Given the description of an element on the screen output the (x, y) to click on. 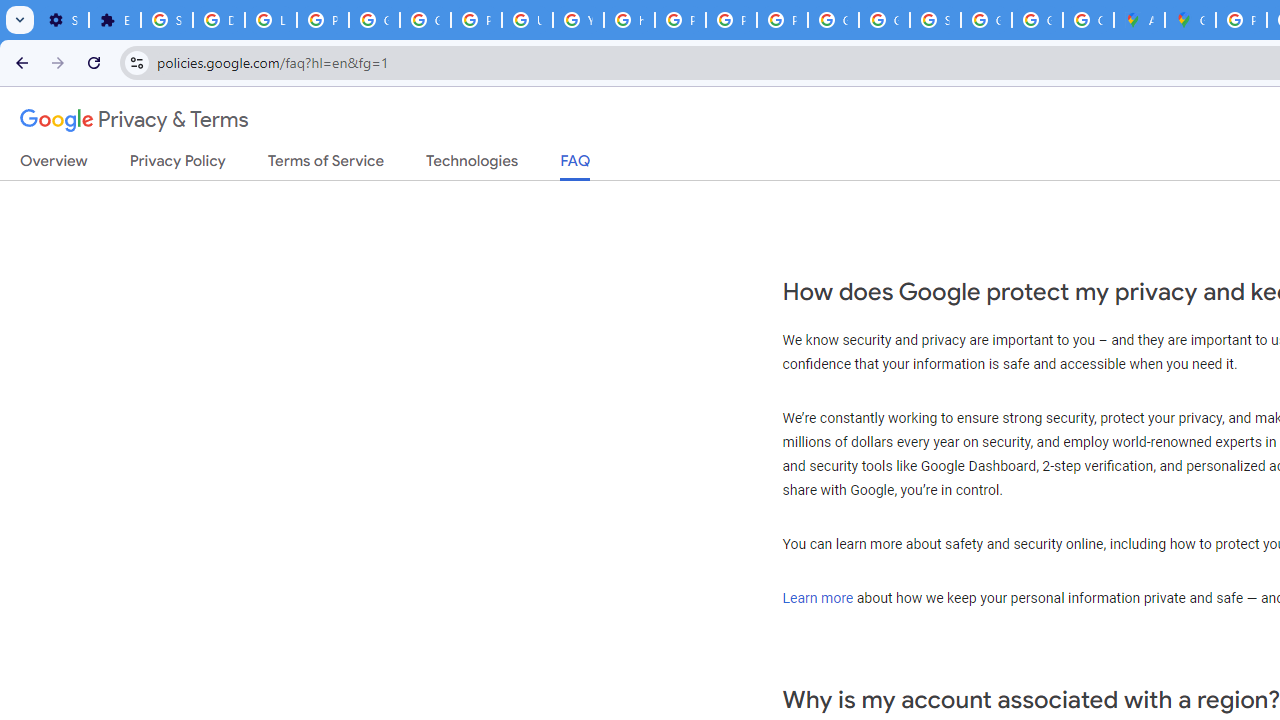
Learn how to find your photos - Google Photos Help (270, 20)
Sign in - Google Accounts (166, 20)
Policy Accountability and Transparency - Transparency Center (1241, 20)
Settings - On startup (63, 20)
